Given the description of an element on the screen output the (x, y) to click on. 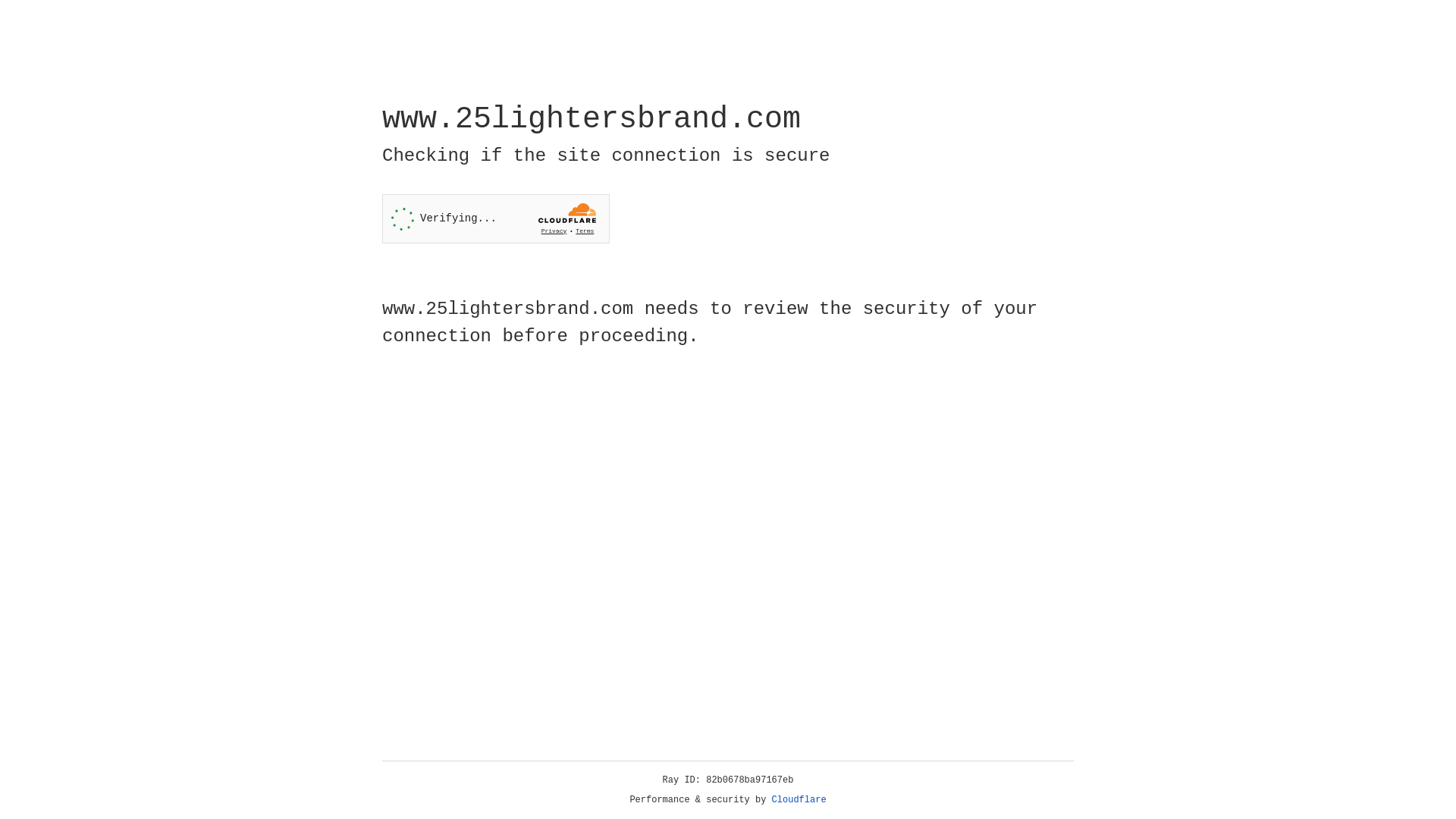
Widget containing a Cloudflare security challenge Element type: hover (495, 218)
Cloudflare Element type: text (798, 799)
